Given the description of an element on the screen output the (x, y) to click on. 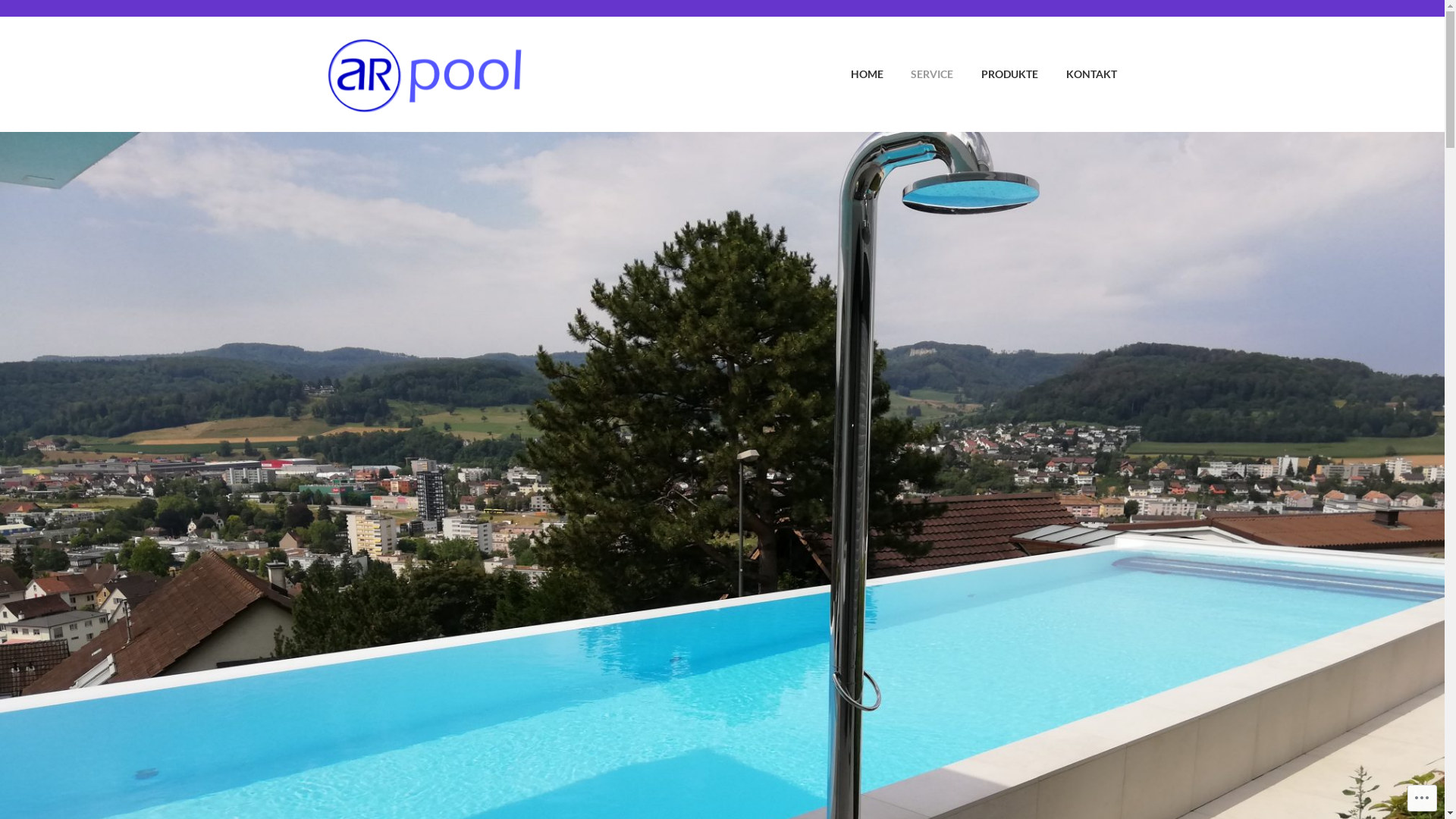
HOME Element type: text (854, 73)
SERVICE Element type: text (919, 73)
KONTAKT Element type: text (1078, 73)
PRODUKTE Element type: text (996, 73)
